Given the description of an element on the screen output the (x, y) to click on. 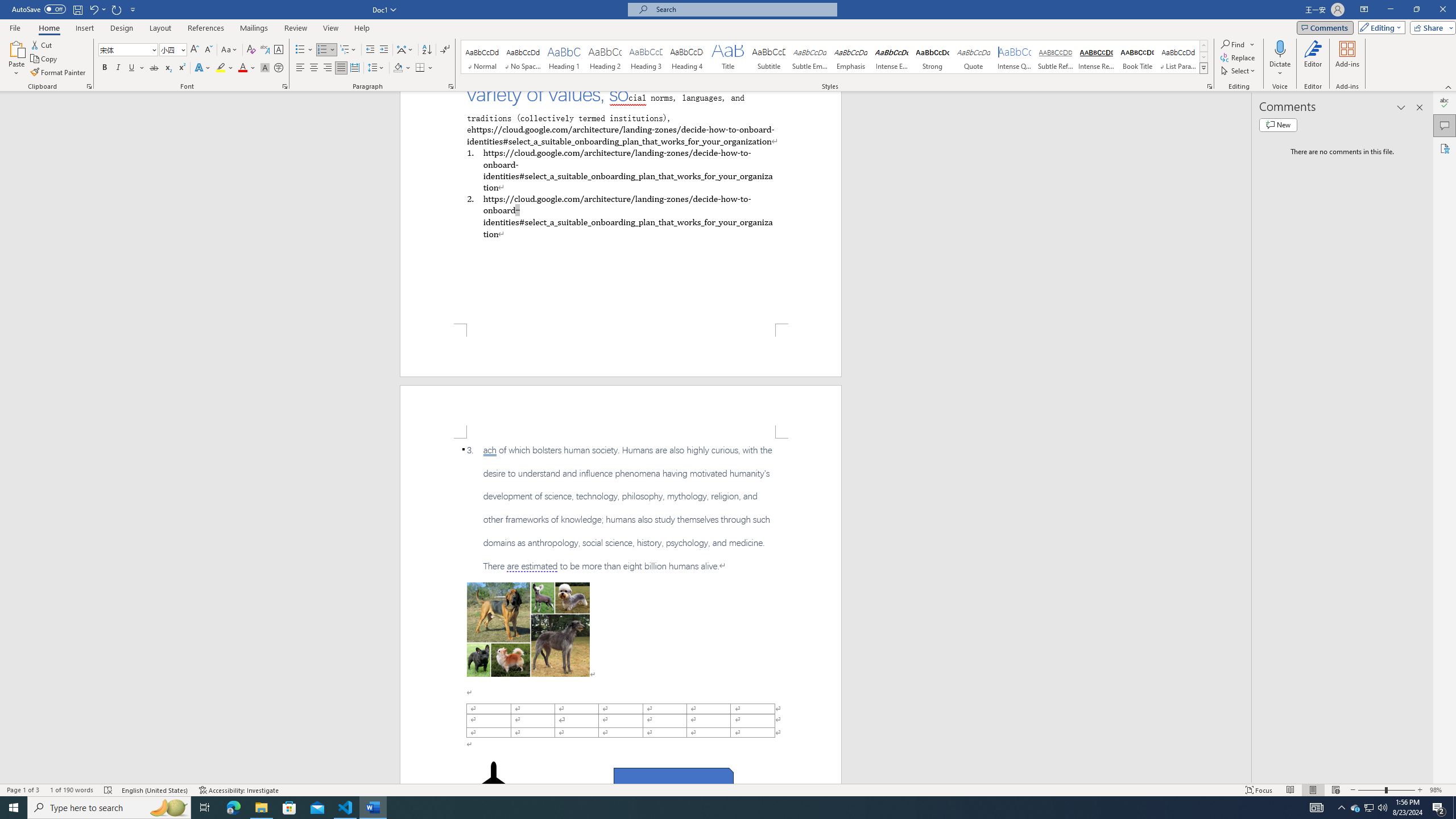
Review (295, 28)
View (330, 28)
Text Highlight Color Yellow (220, 67)
Copy (45, 58)
Strong (932, 56)
Spelling and Grammar Check Errors (108, 790)
Page Number Page 1 of 3 (22, 790)
Editor (1312, 58)
Change Case (229, 49)
Underline (131, 67)
Strikethrough (154, 67)
Zoom In (1420, 790)
